Given the description of an element on the screen output the (x, y) to click on. 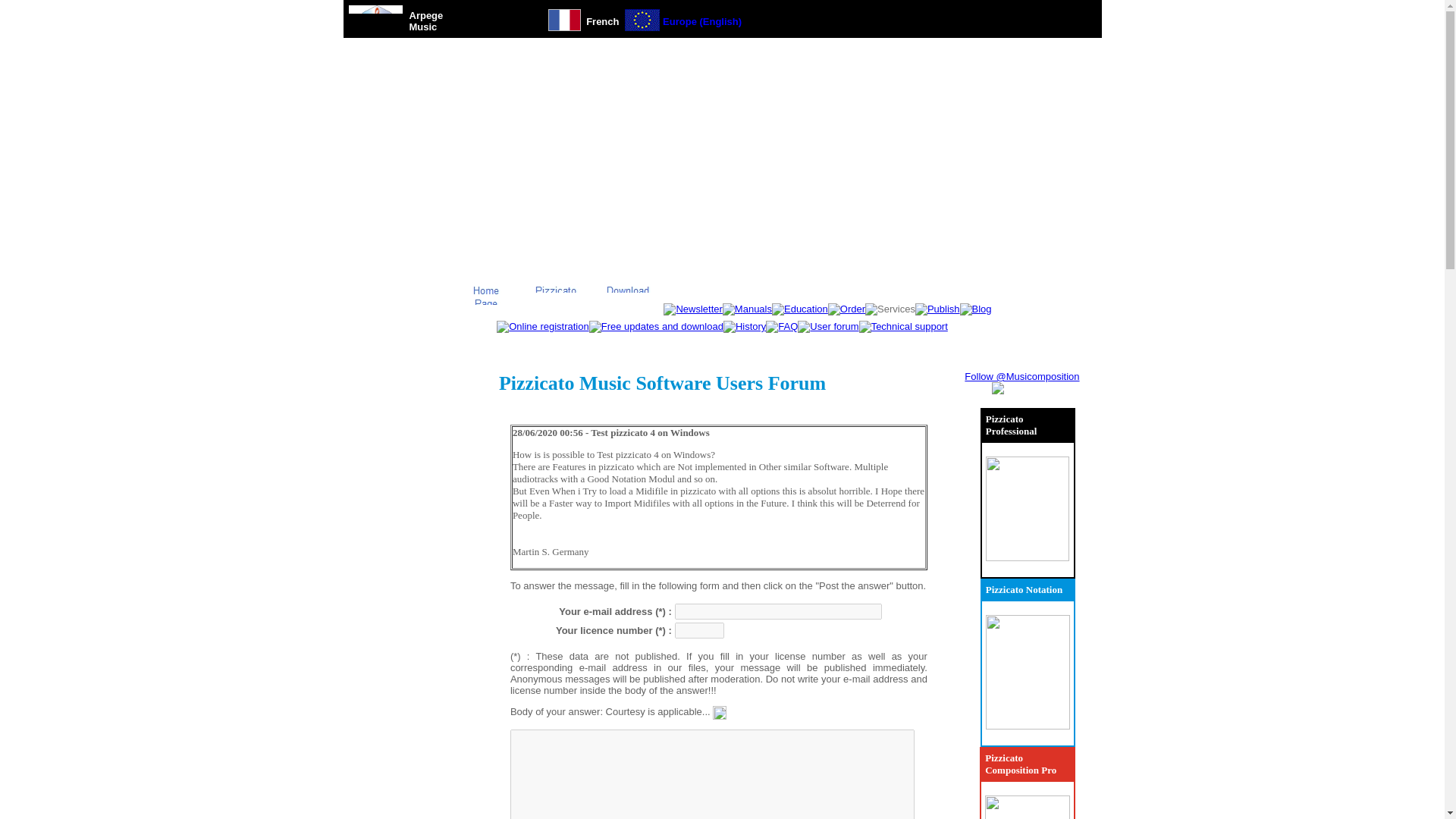
You can share here your experience with Pizzicato (828, 326)
You are here. (889, 309)
Pizzicato Blog (975, 309)
Features of Pizzicato (555, 296)
Receive our free newletter on music, software and Pizzicato (692, 309)
History of Pizzicato versions (744, 326)
Download the free Pizzicato demo version (627, 296)
Order Pizzicato now (846, 309)
Download here the lastest Pizzicato update (656, 326)
